Given the description of an element on the screen output the (x, y) to click on. 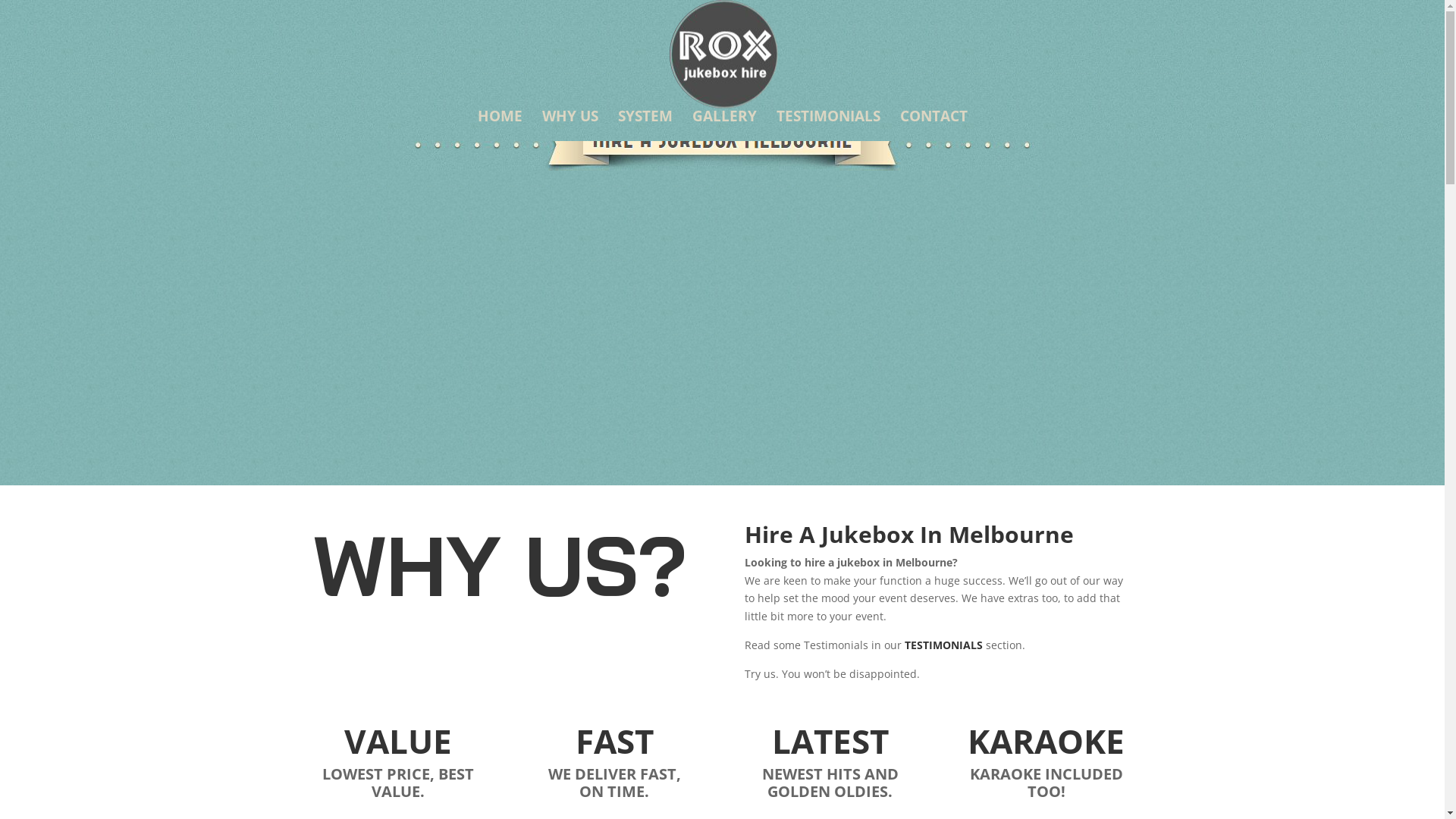
TESTIMONIALS Element type: text (828, 125)
TESTIMONIALS Element type: text (943, 644)
hireajukebox melbourne Element type: hover (721, 140)
WHY US Element type: text (569, 125)
CONTACT Element type: text (932, 125)
HOME Element type: text (499, 125)
SYSTEM Element type: text (644, 125)
GALLERY Element type: text (723, 125)
